Given the description of an element on the screen output the (x, y) to click on. 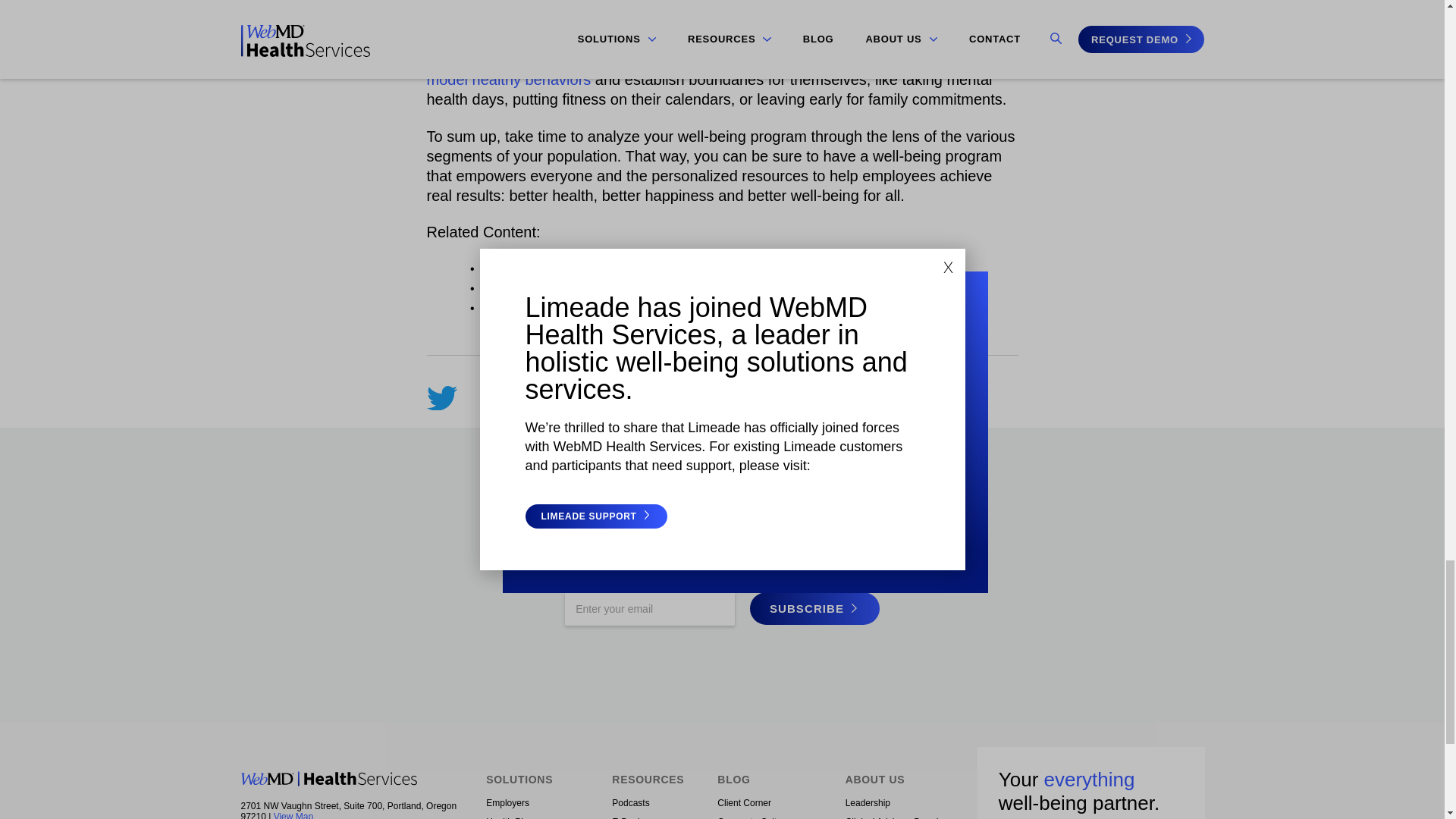
Ideas for Elevating Your Employee Well-Being Experience (717, 289)
leaders and managers to model healthy behaviors (703, 69)
7 Steps To Creating a Culture of Well-Being in the Workplace (748, 269)
